Given the description of an element on the screen output the (x, y) to click on. 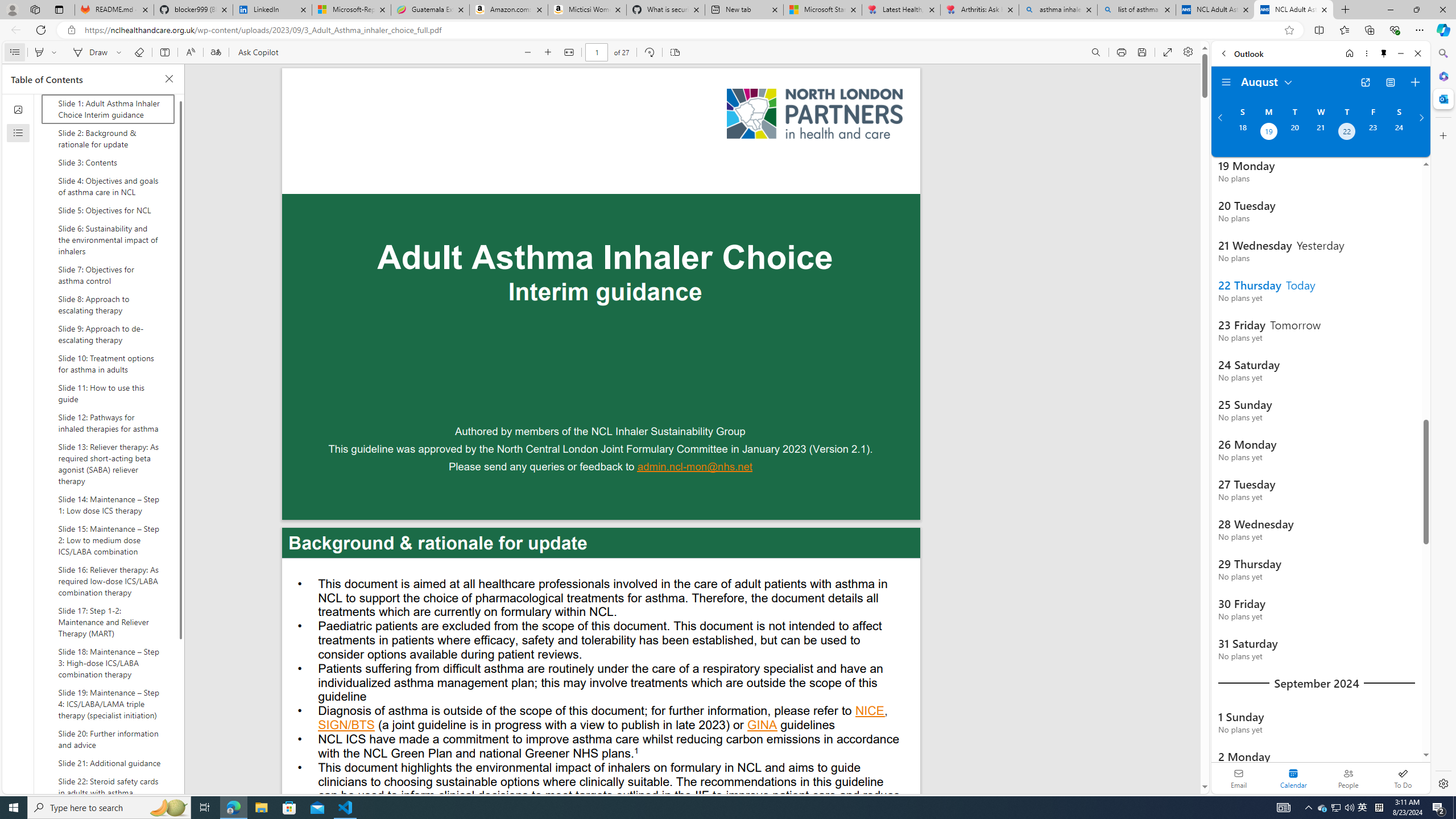
GINA  (761, 726)
Save (Ctrl+S) (1142, 52)
Zoom out (Ctrl+Minus key) (527, 52)
People (1347, 777)
Rotate (Ctrl+]) (649, 52)
Folder navigation (1225, 82)
